Given the description of an element on the screen output the (x, y) to click on. 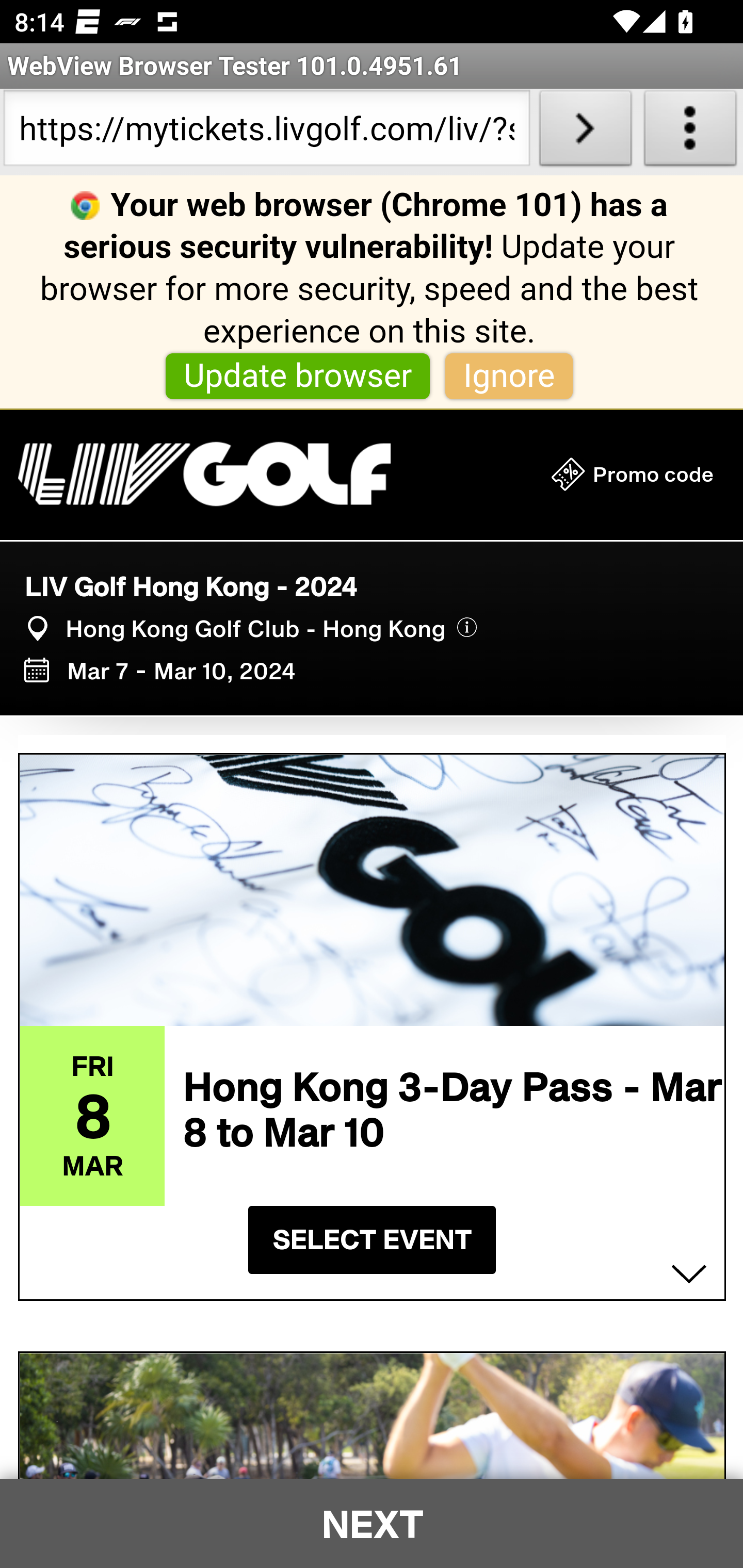
Load URL (585, 132)
About WebView (690, 132)
Update browser (297, 376)
Ignore (509, 376)
Promo code (632, 474)
More info about the show (466, 627)
NEXT (371, 1523)
